Given the description of an element on the screen output the (x, y) to click on. 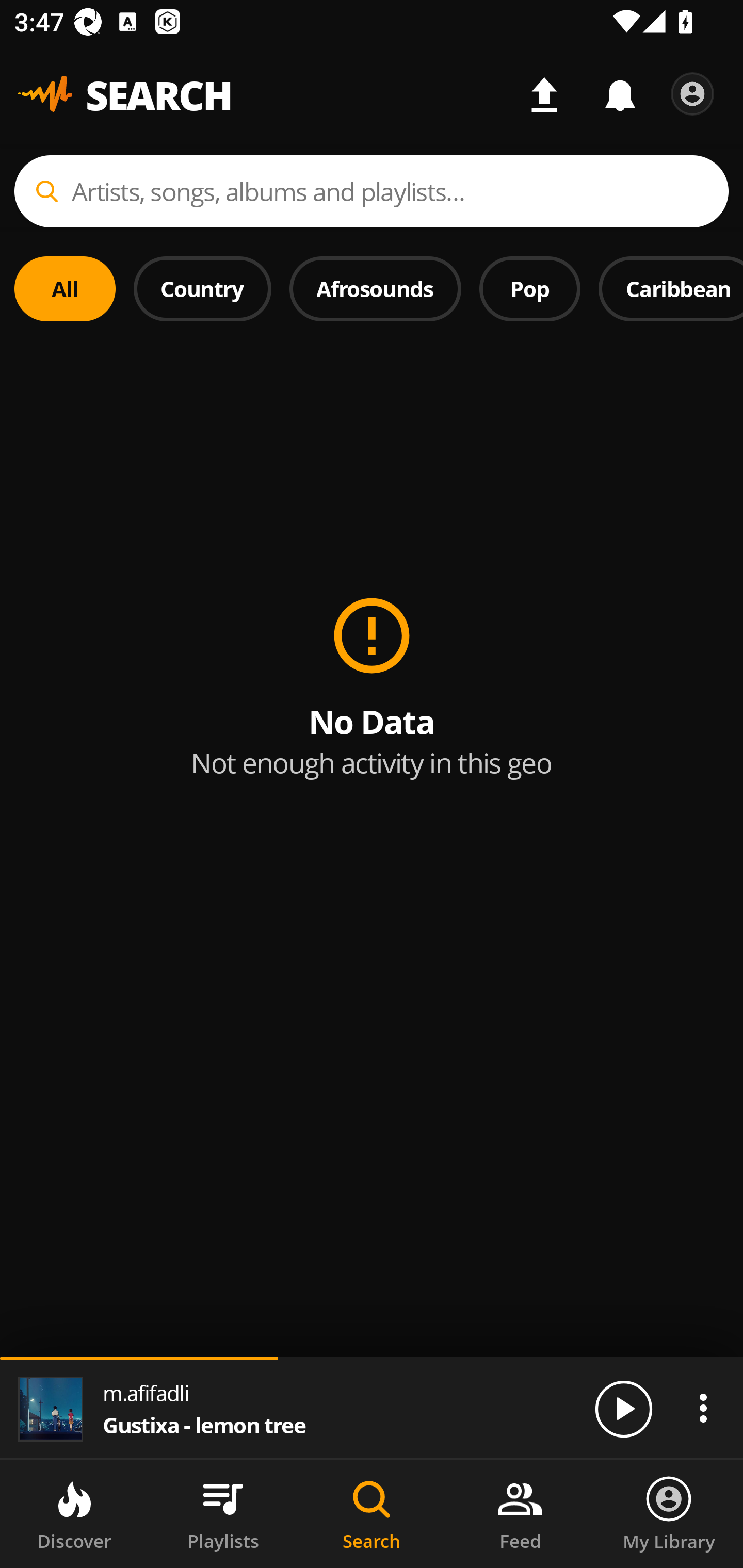
Settings (692, 94)
Artists, songs, albums and playlists… (371, 191)
All (64, 288)
Country (202, 288)
Afrosounds (375, 288)
Pop (529, 288)
Caribbean (670, 288)
Actions (703, 1407)
Play/Pause (623, 1408)
Discover (74, 1513)
Playlists (222, 1513)
Search (371, 1513)
Feed (519, 1513)
My Library (668, 1513)
